Given the description of an element on the screen output the (x, y) to click on. 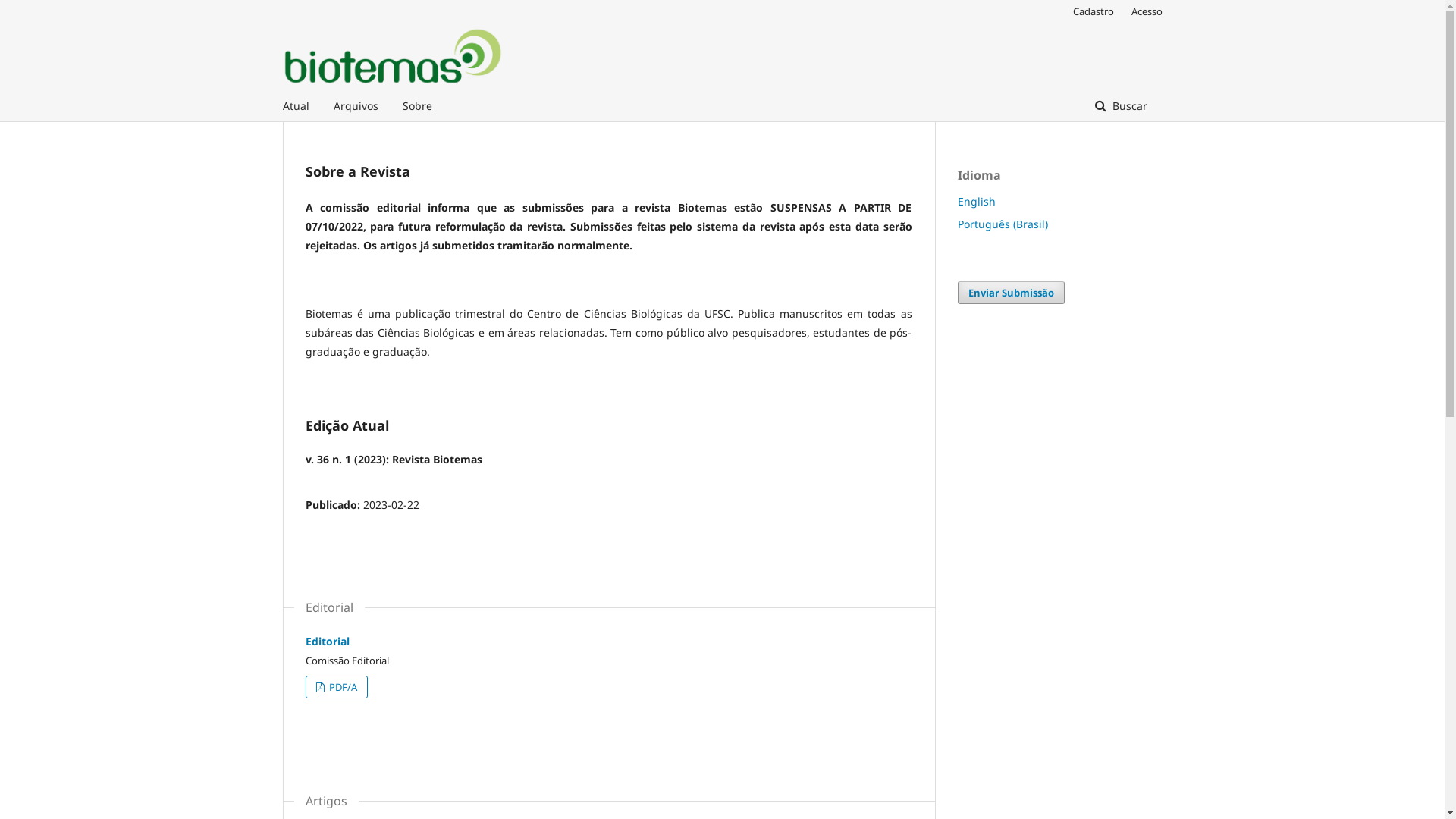
Editorial Element type: text (326, 640)
English Element type: text (975, 201)
Arquivos Element type: text (355, 106)
Cadastro Element type: text (1092, 11)
PDF/A Element type: text (335, 686)
Atual Element type: text (295, 106)
Buscar Element type: text (1120, 106)
Acesso Element type: text (1142, 11)
Sobre Element type: text (416, 106)
